Given the description of an element on the screen output the (x, y) to click on. 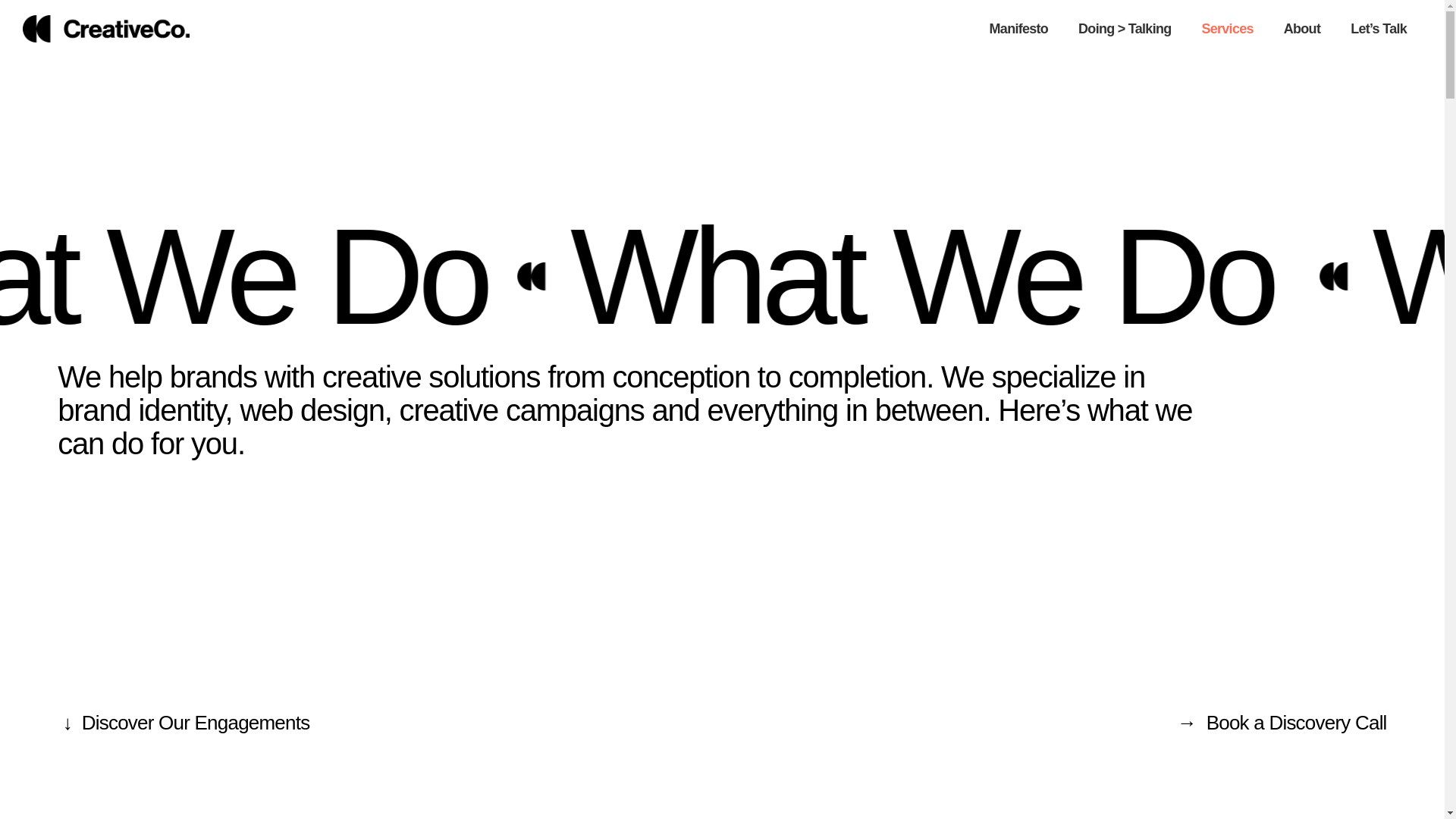
Discover Our Engagements (195, 722)
Manifesto (1019, 28)
About (1301, 28)
Manifesto (1019, 28)
Services (1227, 28)
Services (1227, 28)
About (1301, 28)
